Given the description of an element on the screen output the (x, y) to click on. 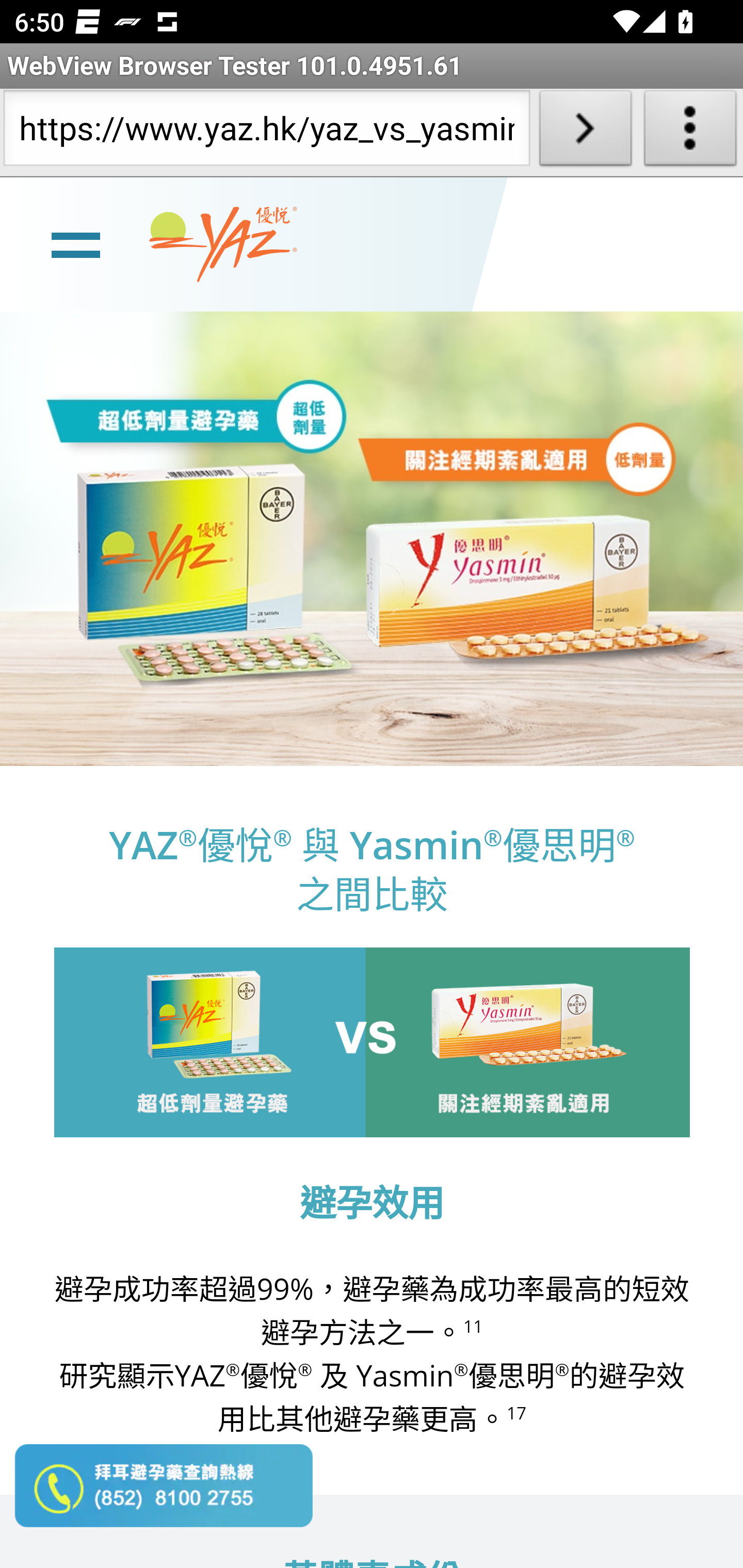
Load URL (585, 132)
About WebView (690, 132)
www.yaz (222, 244)
line Toggle burger menu (75, 242)
